Given the description of an element on the screen output the (x, y) to click on. 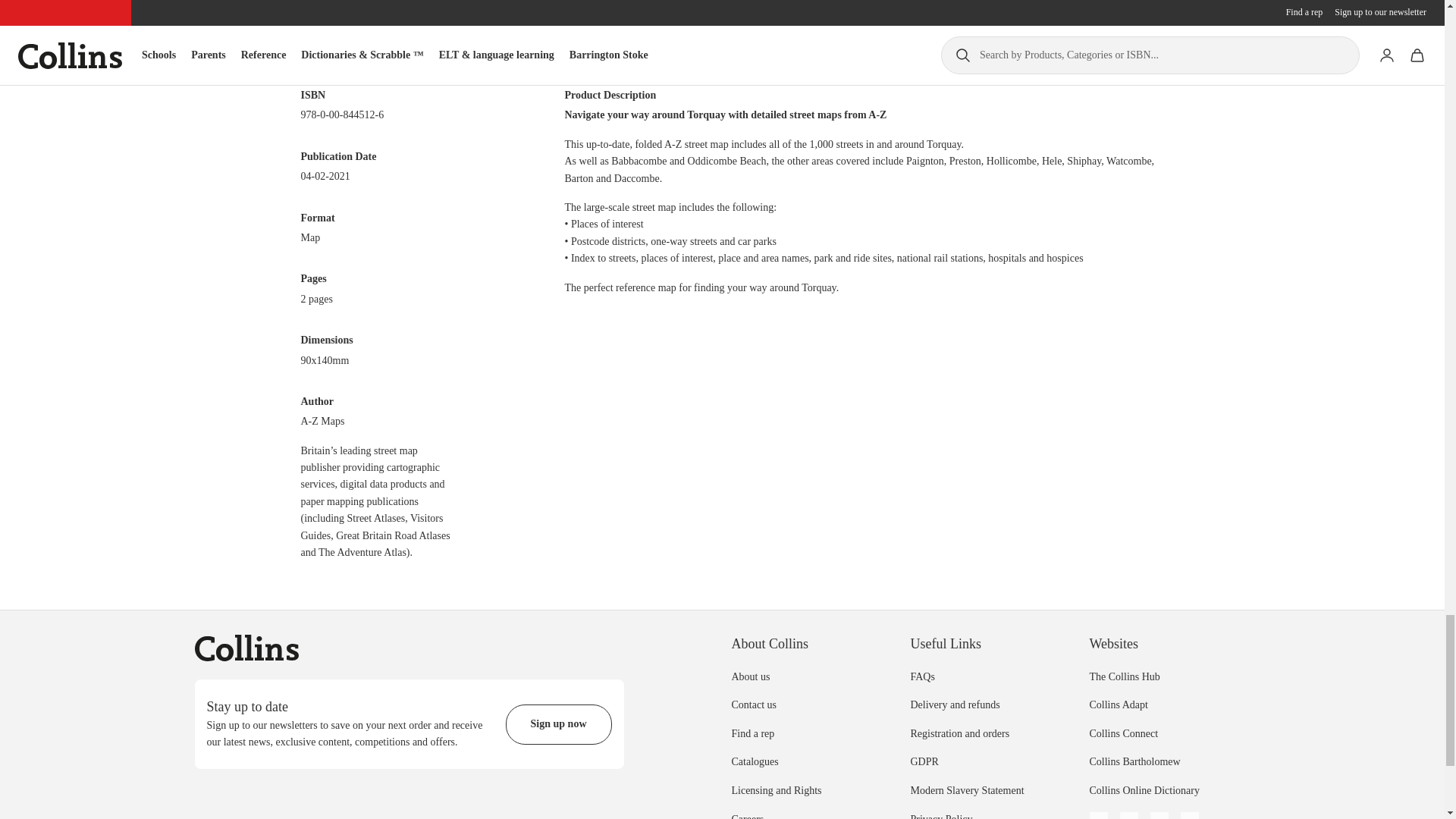
Careers (746, 816)
Find a rep (752, 733)
About us (750, 676)
FAQs (922, 676)
Delivery and refunds (954, 704)
Registration and orders (959, 733)
Catalogues (753, 761)
Sign up now (558, 723)
Licensing and Rights (775, 790)
Contact us (753, 704)
